Given the description of an element on the screen output the (x, y) to click on. 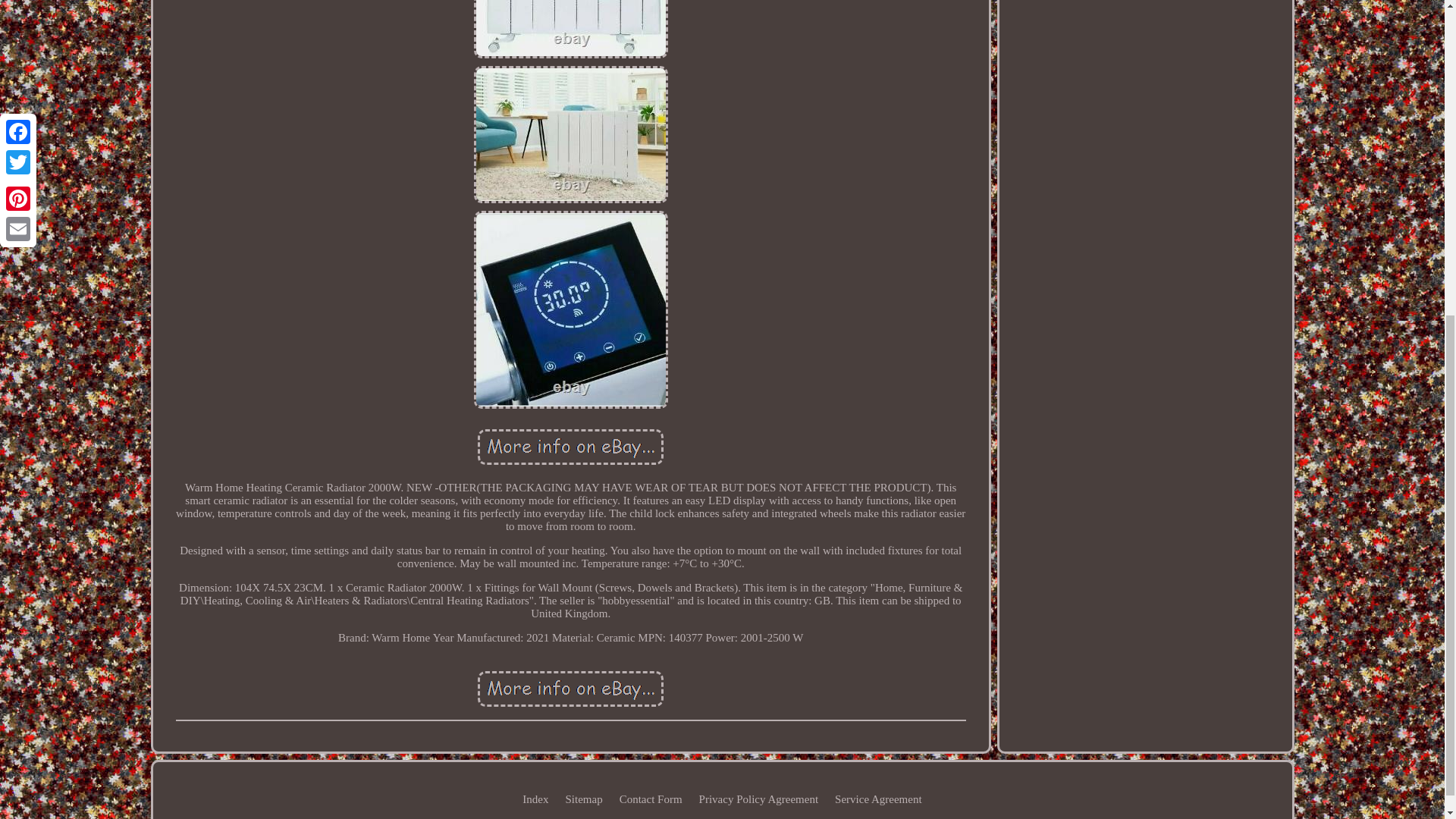
Warm Home Heating Ceramic Radiator 2000W (571, 133)
Warm Home Heating Ceramic Radiator 2000W (570, 447)
Warm Home Heating Ceramic Radiator 2000W (571, 309)
Warm Home Heating Ceramic Radiator 2000W (570, 687)
Warm Home Heating Ceramic Radiator 2000W (571, 28)
